Given the description of an element on the screen output the (x, y) to click on. 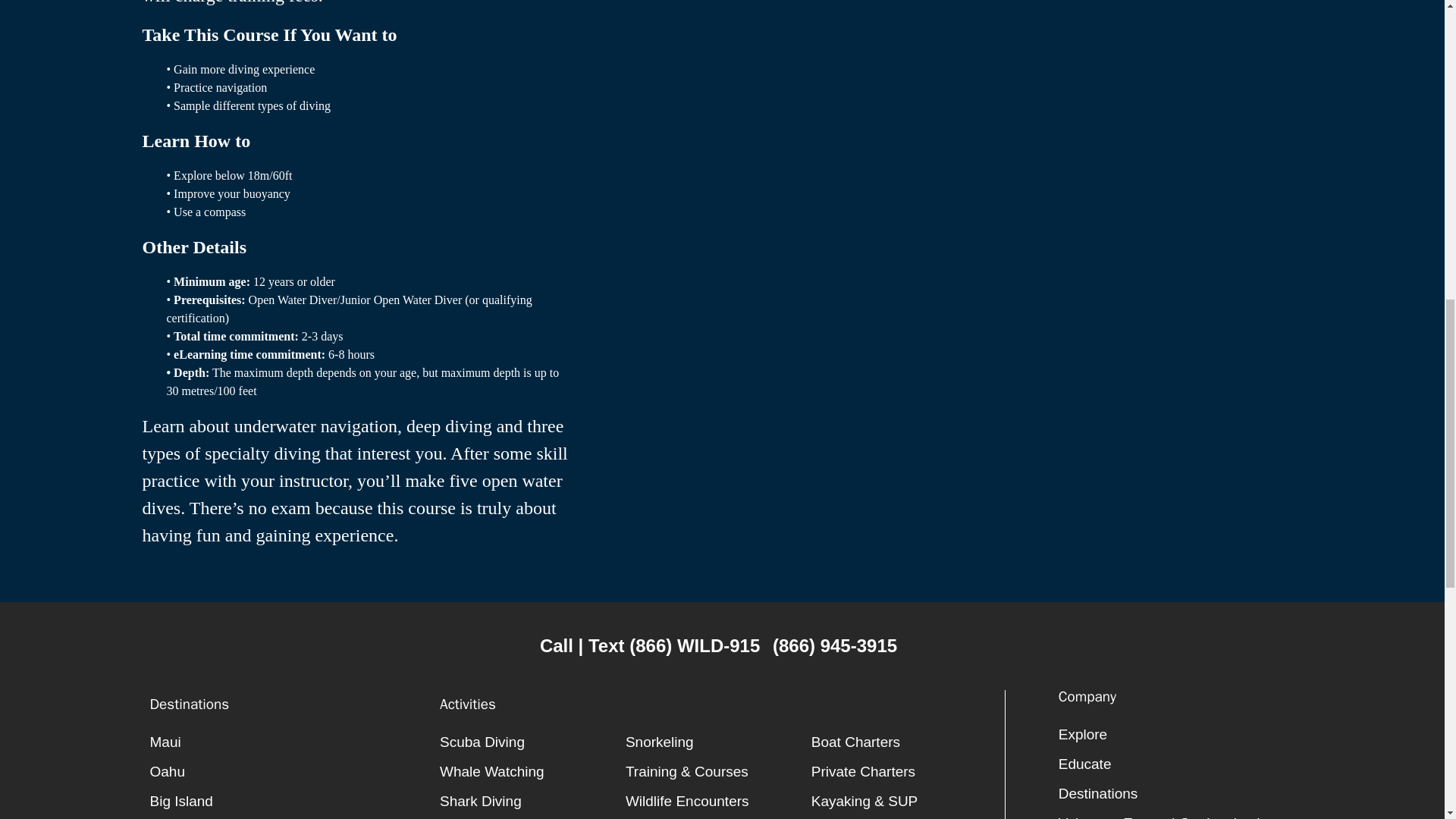
Educate (1176, 763)
Maui (287, 741)
Explore (1176, 734)
Whale Watching (532, 771)
Shark Diving (532, 800)
Boat Charters (903, 741)
Private Charters (903, 771)
South Florida (287, 817)
Big Island (287, 800)
Snorkeling (718, 741)
Freediving (532, 817)
Scuba Diving (532, 741)
Wildlife Encounters (718, 800)
Destinations (1176, 793)
Oahu (287, 771)
